Given the description of an element on the screen output the (x, y) to click on. 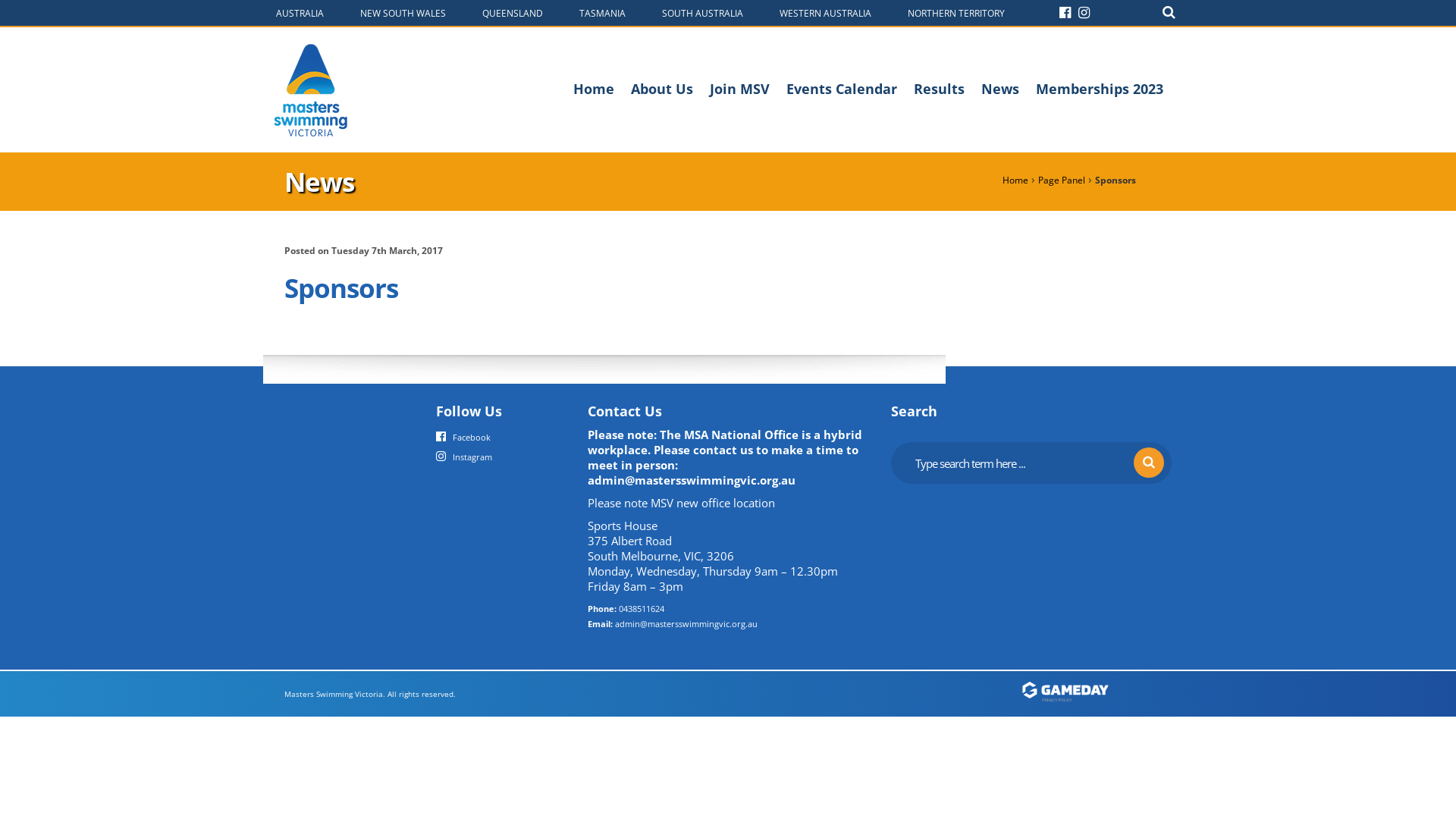
Results Element type: text (938, 88)
WESTERN AUSTRALIA Element type: text (823, 11)
QUEENSLAND Element type: text (510, 11)
Events Calendar Element type: text (841, 88)
AUSTRALIA Element type: text (298, 11)
s Element type: text (1148, 462)
Facebook Element type: text (463, 435)
News Element type: text (1000, 88)
TASMANIA Element type: text (600, 11)
Home Element type: text (1015, 179)
Search Element type: hover (1168, 12)
NORTHERN TERRITORY Element type: text (954, 11)
NEW SOUTH WALES Element type: text (401, 11)
Instagram Element type: text (464, 455)
admin@mastersswimmingvic.org.au Element type: text (686, 623)
SportsTG Privacy Policy Element type: hover (1095, 703)
Home Element type: text (593, 88)
Page Panel Element type: text (1061, 179)
Powered by SportsTG Element type: hover (1095, 692)
Memberships 2023 Element type: text (1099, 88)
Join MSV Element type: text (739, 88)
About Us Element type: text (661, 88)
SOUTH AUSTRALIA Element type: text (700, 11)
